Given the description of an element on the screen output the (x, y) to click on. 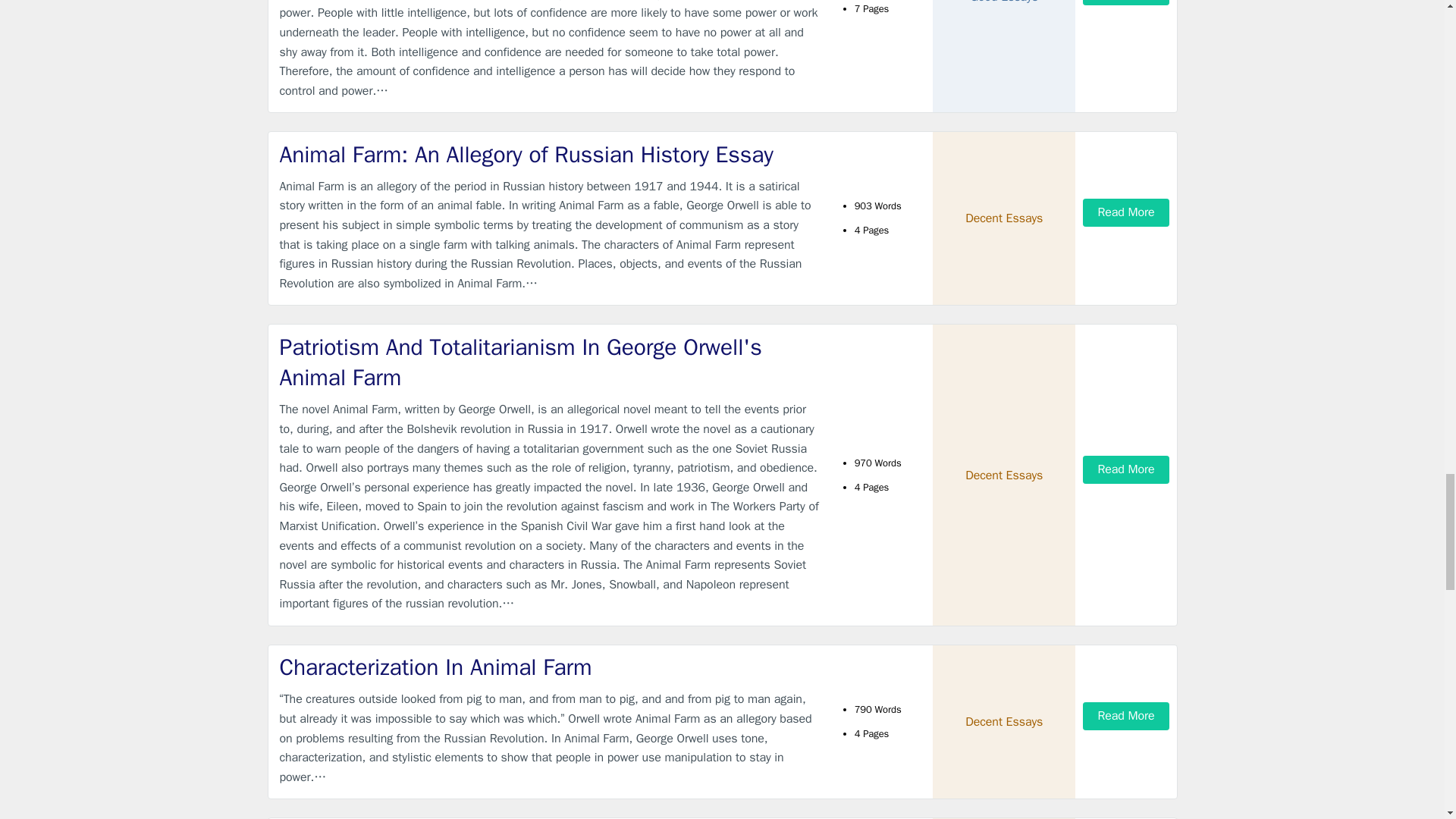
Read More (1126, 2)
